Given the description of an element on the screen output the (x, y) to click on. 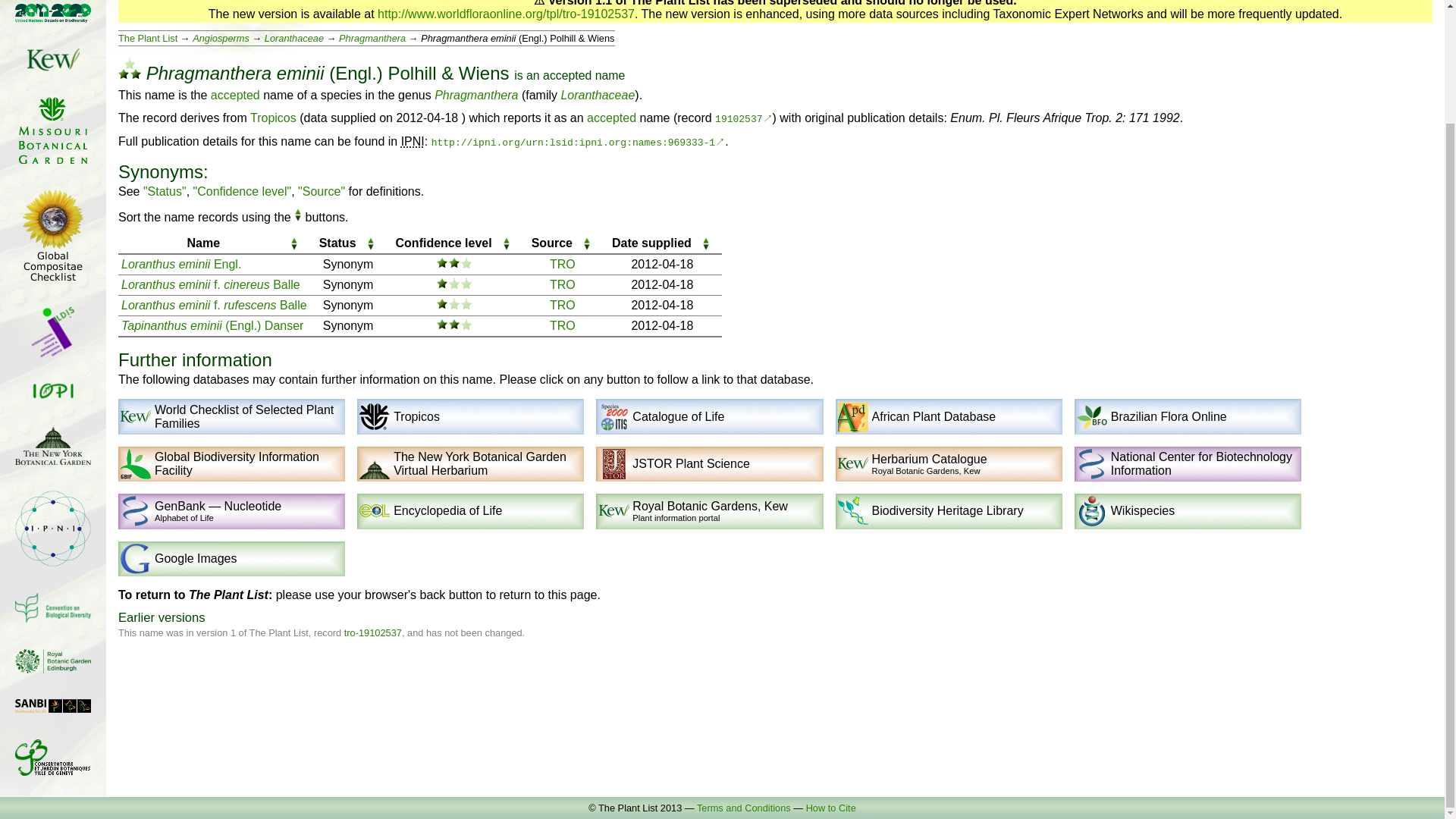
accepted (567, 74)
TRO (562, 284)
accepted (235, 94)
The Plant List (147, 38)
International Plant Names Index (413, 141)
Loranthus eminii f. cinereus Balle (209, 284)
Loranthus eminii Engl. (180, 264)
"Source" (321, 191)
Angiosperms (220, 38)
19102537 (742, 119)
Loranthaceae (293, 38)
Tropicos (273, 117)
Phragmanthera (372, 38)
Loranthaceae (597, 94)
Phragmanthera (475, 94)
